Given the description of an element on the screen output the (x, y) to click on. 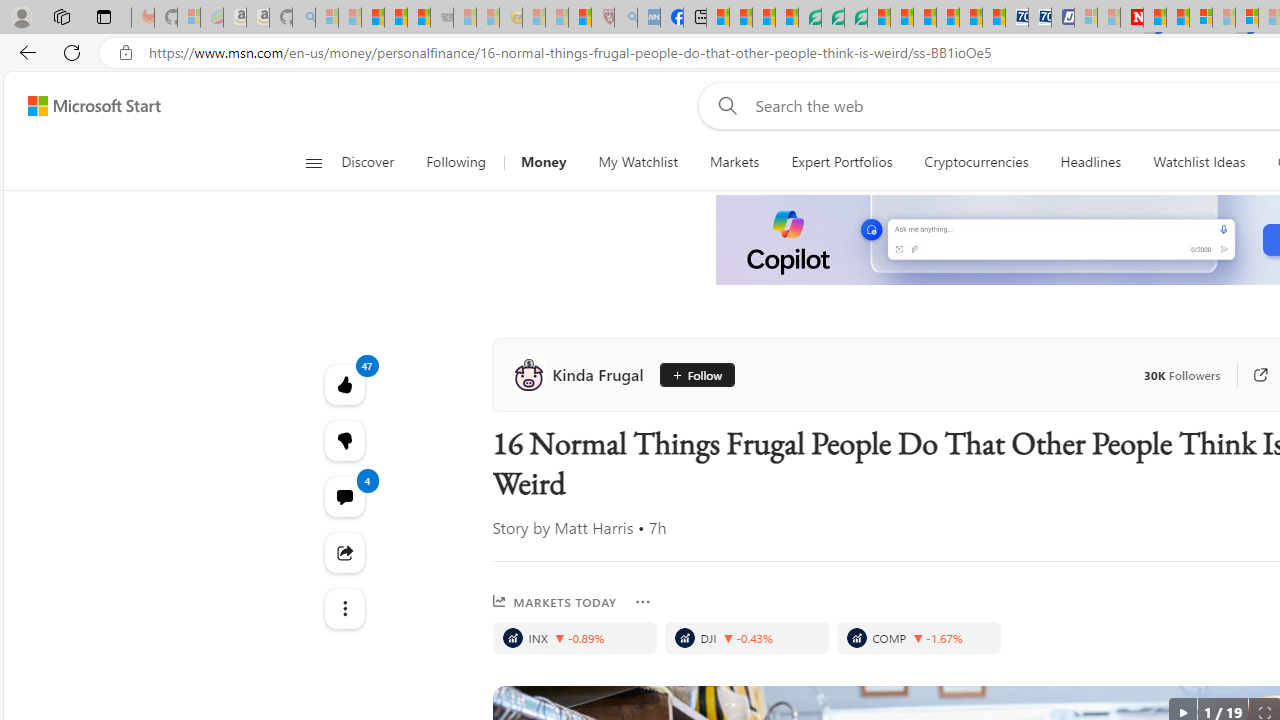
47 Like (343, 384)
LendingTree - Compare Lenders (809, 17)
Recipes - MSN - Sleeping (534, 17)
Skip to content (86, 105)
Following (456, 162)
Microsoft Word - consumer-privacy address update 2.2021 (855, 17)
Cryptocurrencies (976, 162)
View comments 4 Comment (343, 496)
Money (543, 162)
Markets (734, 162)
DJI, DOW. Price is 40,712.78. Decreased by -0.43% (746, 637)
Expert Portfolios (842, 162)
